Given the description of an element on the screen output the (x, y) to click on. 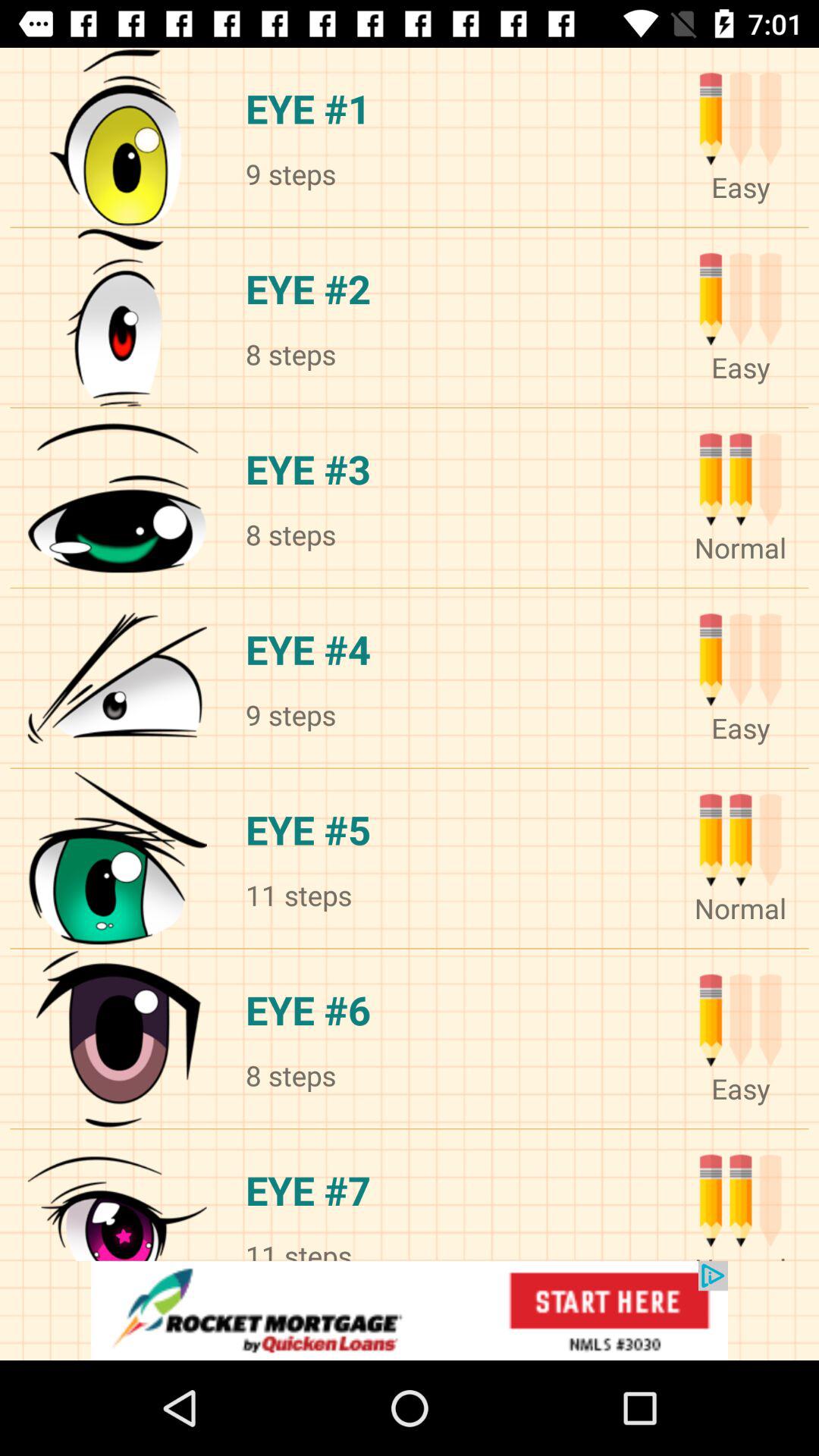
advertisement click (409, 1310)
